Given the description of an element on the screen output the (x, y) to click on. 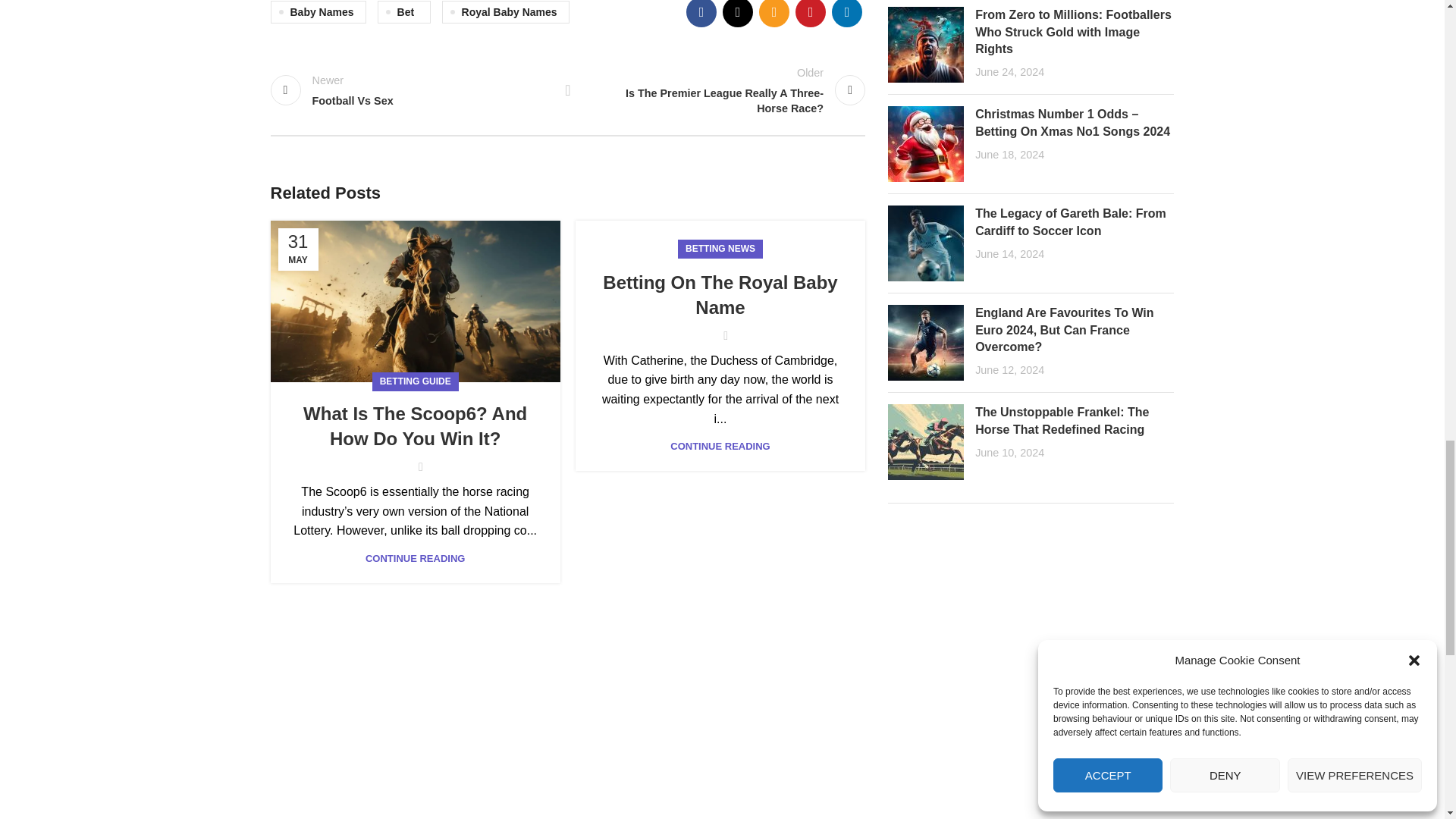
Baby Names (317, 11)
